Given the description of an element on the screen output the (x, y) to click on. 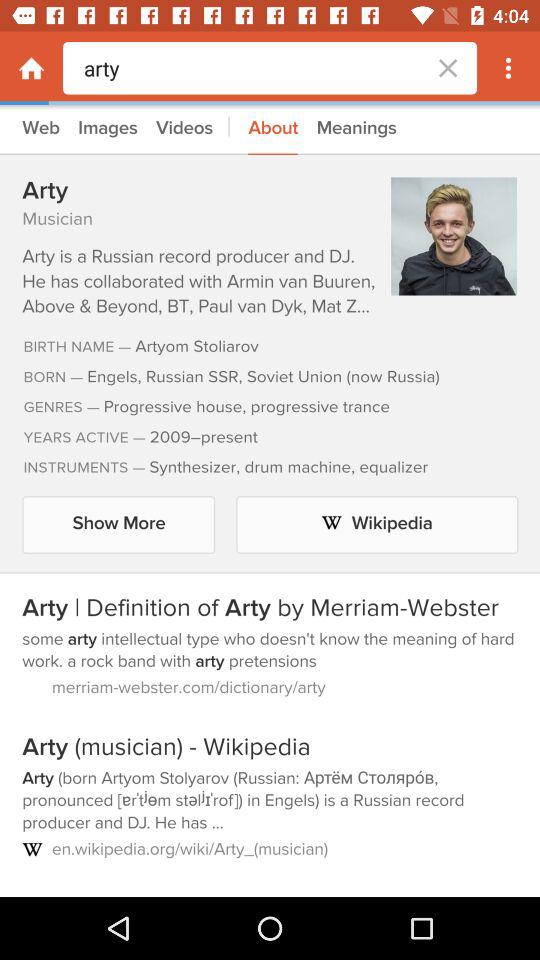
more options (508, 68)
